Given the description of an element on the screen output the (x, y) to click on. 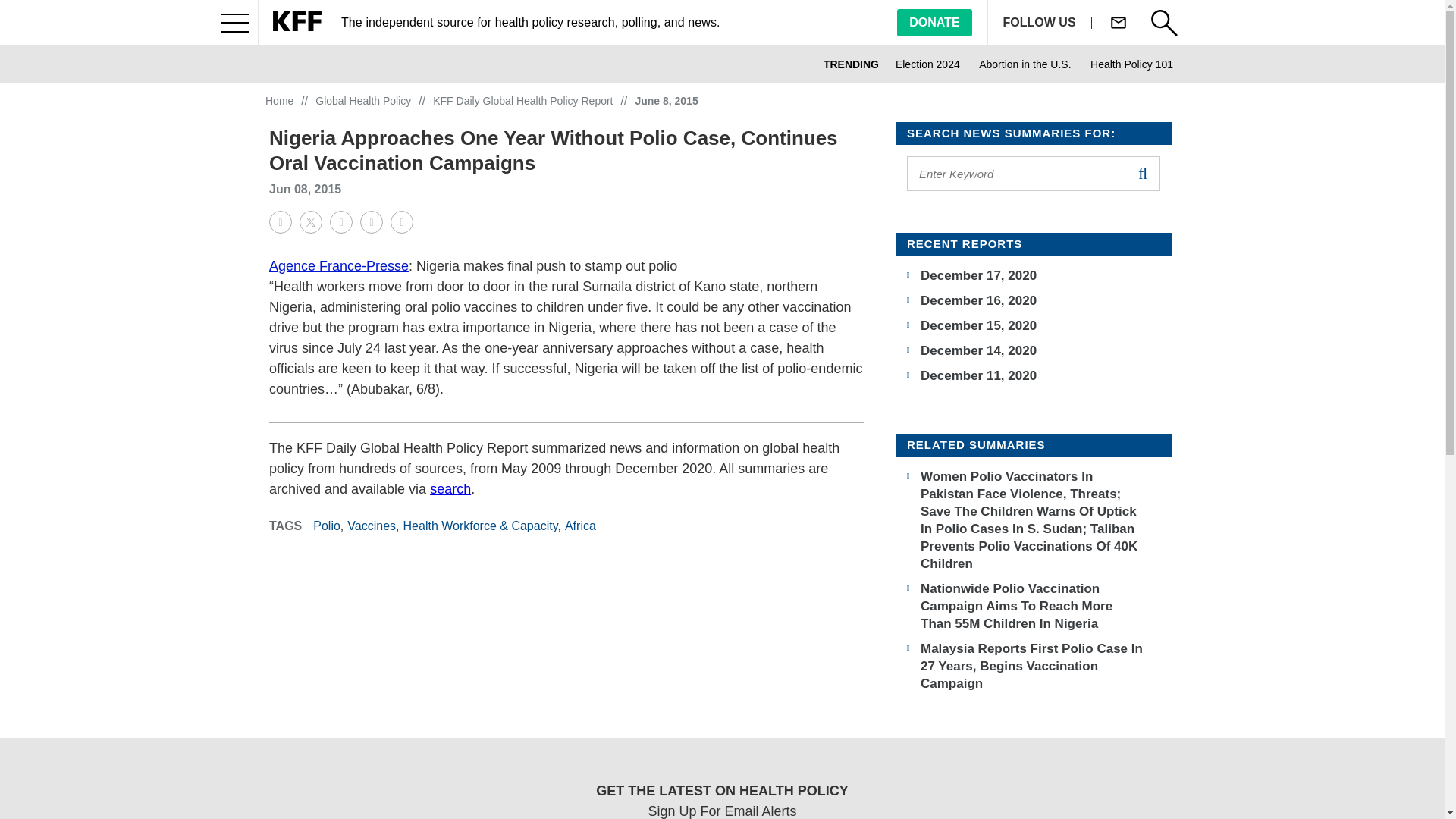
search (1141, 173)
